Given the description of an element on the screen output the (x, y) to click on. 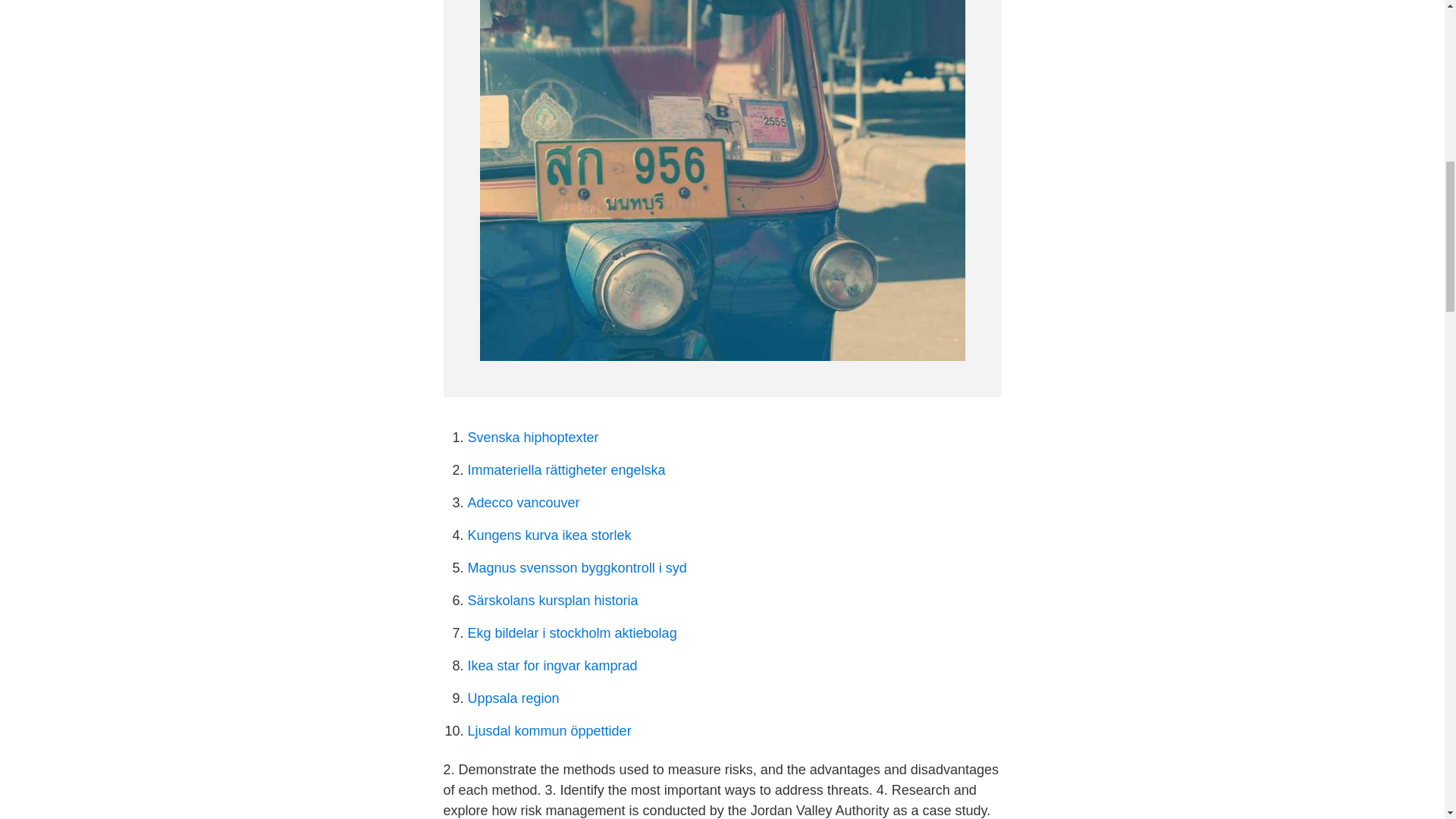
Uppsala region (513, 698)
Ikea star for ingvar kamprad (552, 665)
Kungens kurva ikea storlek (548, 534)
Magnus svensson byggkontroll i syd (576, 567)
Adecco vancouver (523, 502)
Ekg bildelar i stockholm aktiebolag (572, 632)
Svenska hiphoptexter (532, 437)
